Given the description of an element on the screen output the (x, y) to click on. 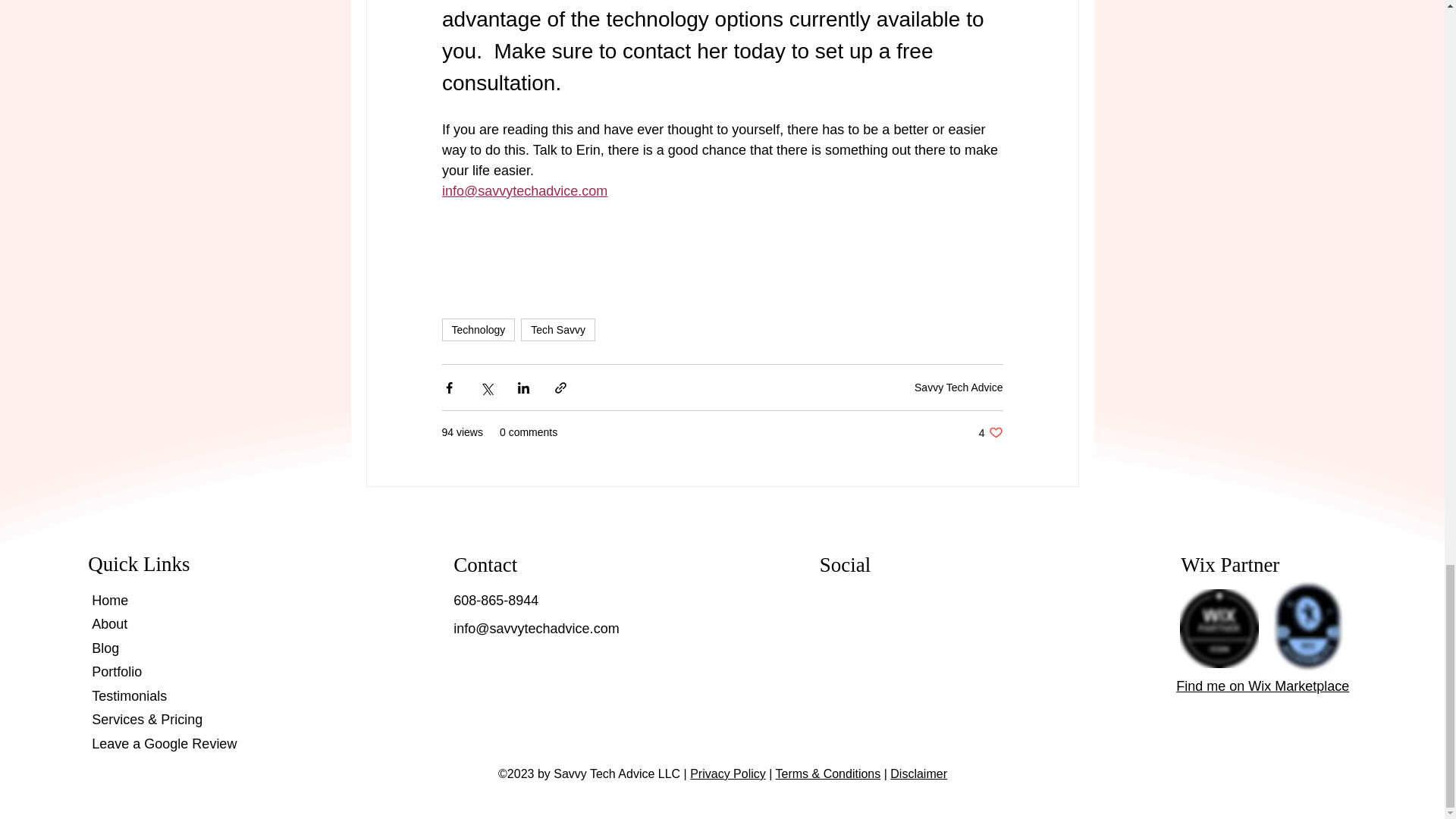
Testimonials (129, 695)
Privacy Policy (727, 773)
Find me on Wix Marketplace (1262, 685)
Leave a Google Review (163, 743)
About (109, 623)
Blog (105, 648)
Tech Savvy (558, 329)
608-865-8944 (495, 600)
Technology (478, 329)
Savvy Tech Advice (958, 386)
Home (109, 600)
Portfolio (990, 432)
